Given the description of an element on the screen output the (x, y) to click on. 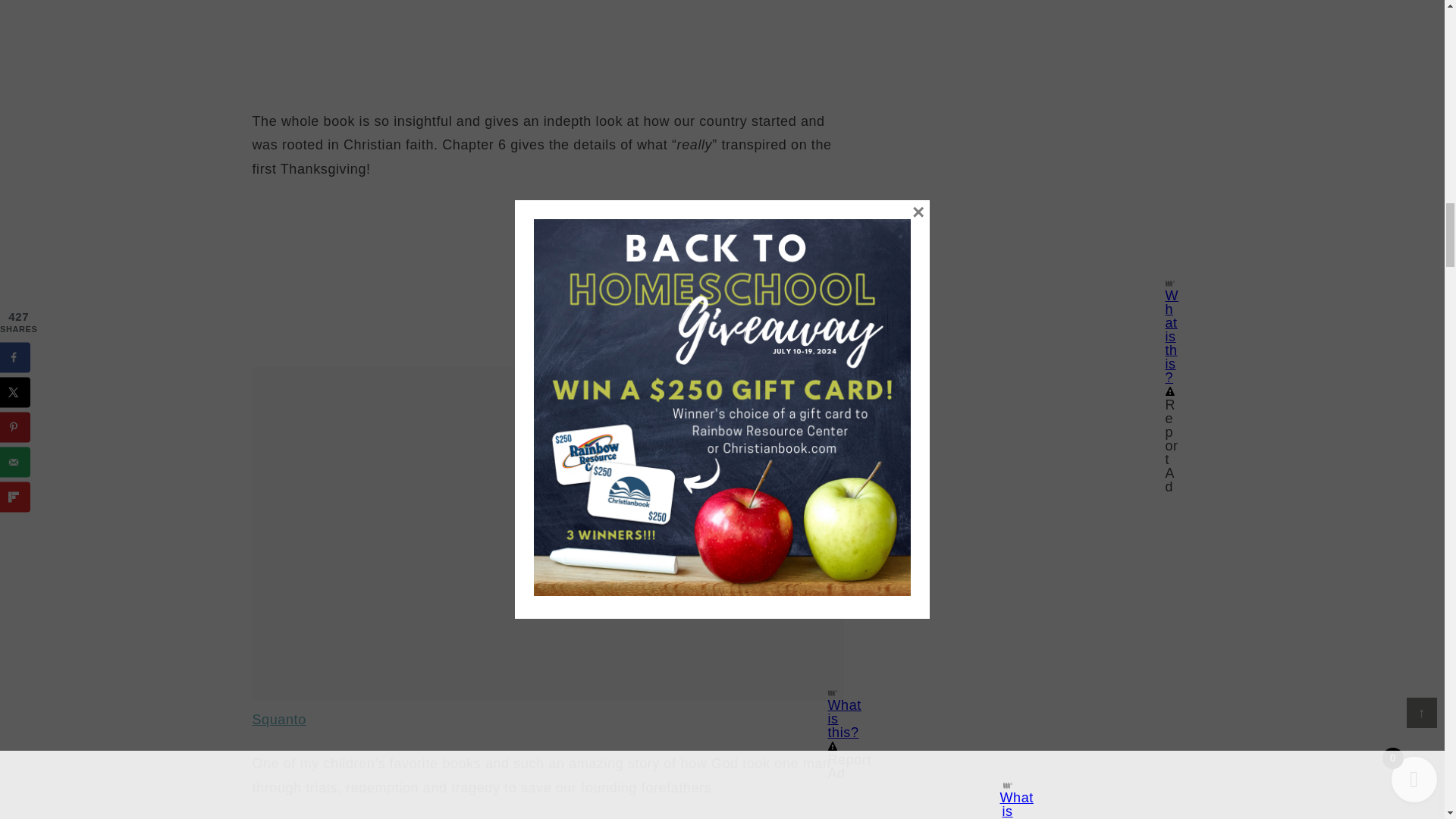
3rd party ad content (547, 461)
